Given the description of an element on the screen output the (x, y) to click on. 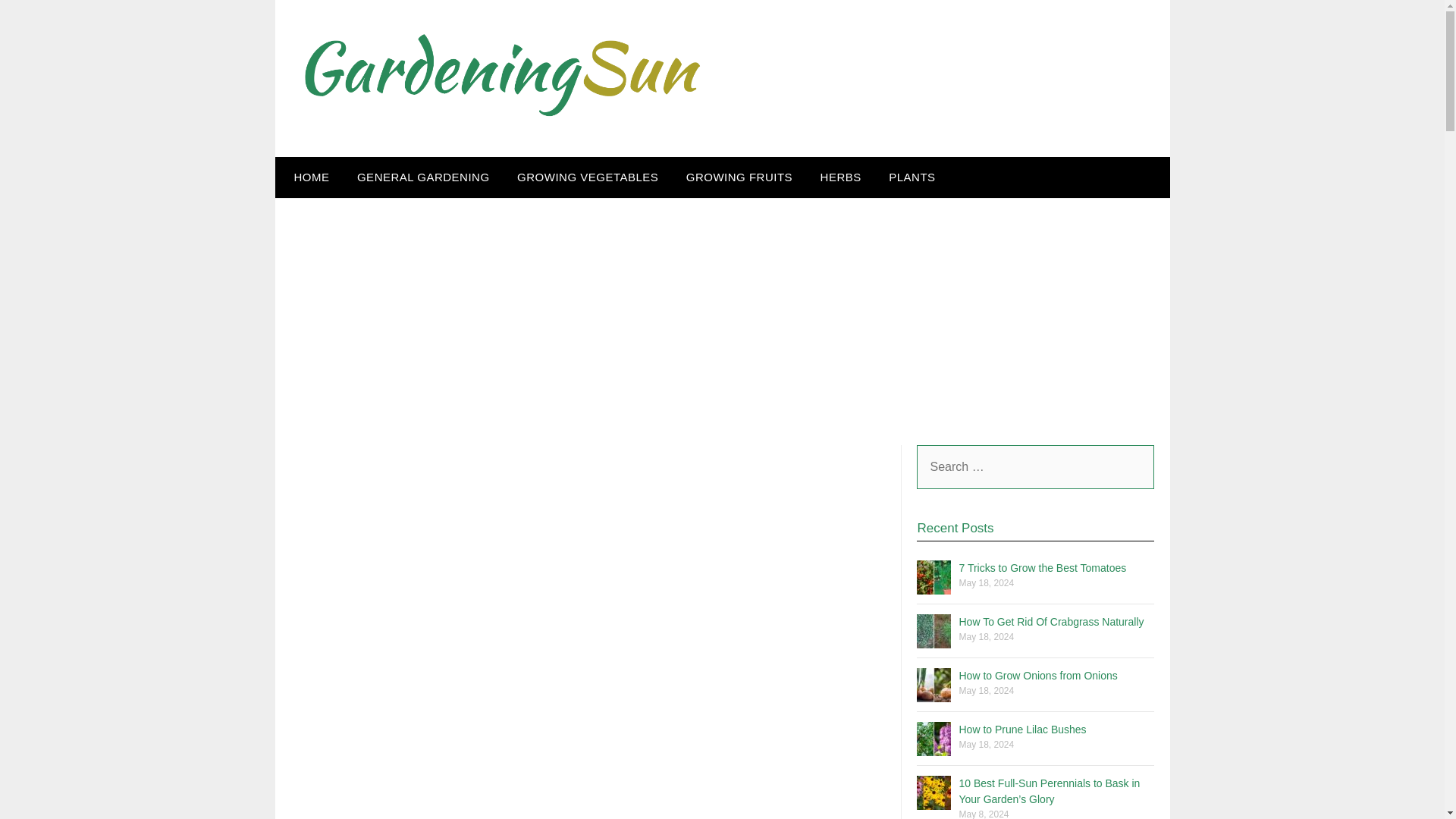
GENERAL GARDENING (423, 177)
GROWING FRUITS (739, 177)
GROWING VEGETABLES (587, 177)
7 Tricks to Grow the Best Tomatoes (1041, 567)
How to Grow Onions from Onions (1037, 675)
Search (38, 22)
How To Get Rid Of Crabgrass Naturally (1050, 621)
PLANTS (911, 177)
HERBS (840, 177)
HOME (307, 177)
How to Prune Lilac Bushes (1022, 729)
